Given the description of an element on the screen output the (x, y) to click on. 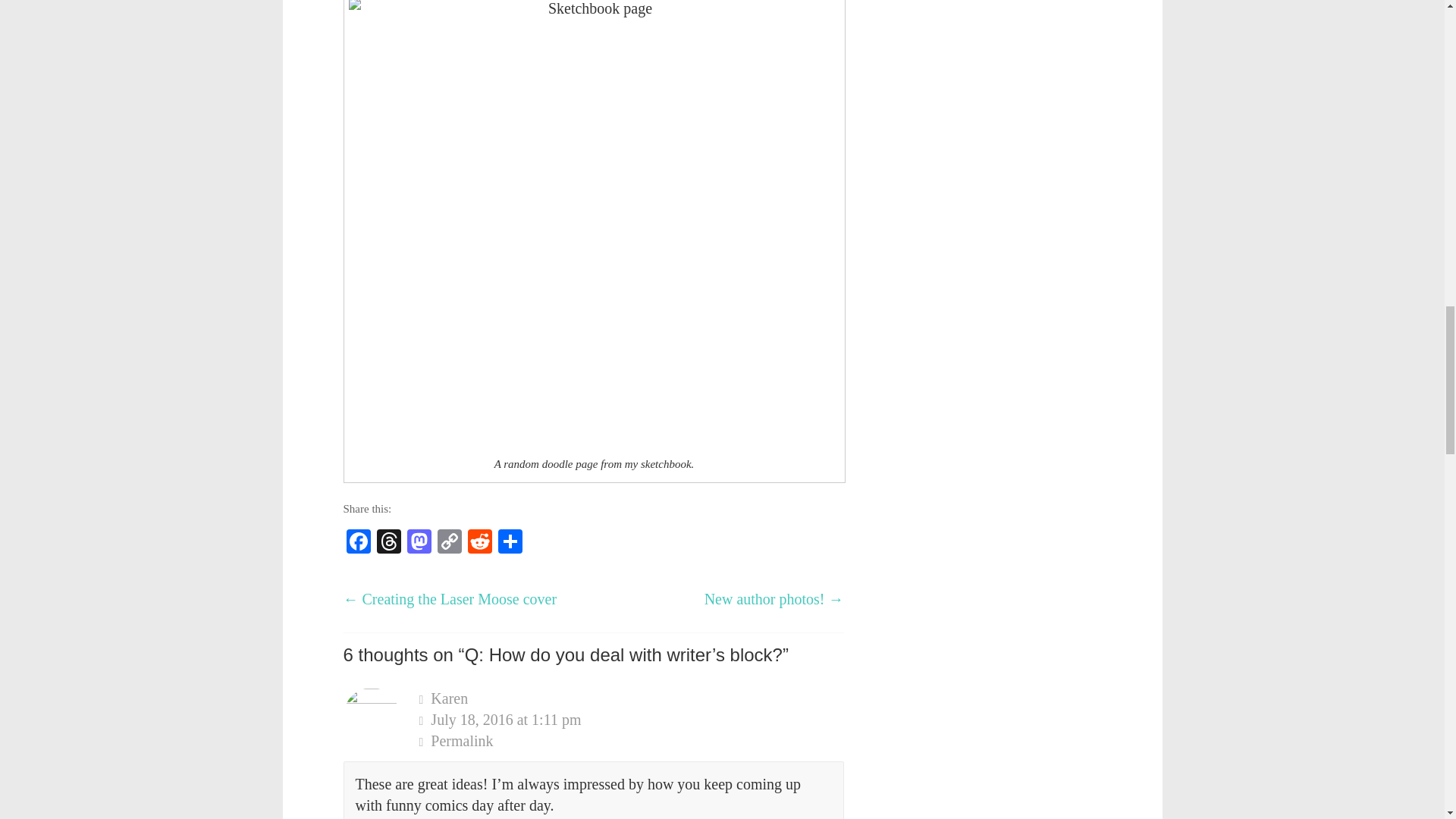
Facebook (357, 543)
Reddit (479, 543)
Permalink (631, 740)
Threads (387, 543)
Copy Link (448, 543)
Facebook (357, 543)
Threads (387, 543)
Mastodon (418, 543)
Share (509, 543)
Reddit (479, 543)
